Given the description of an element on the screen output the (x, y) to click on. 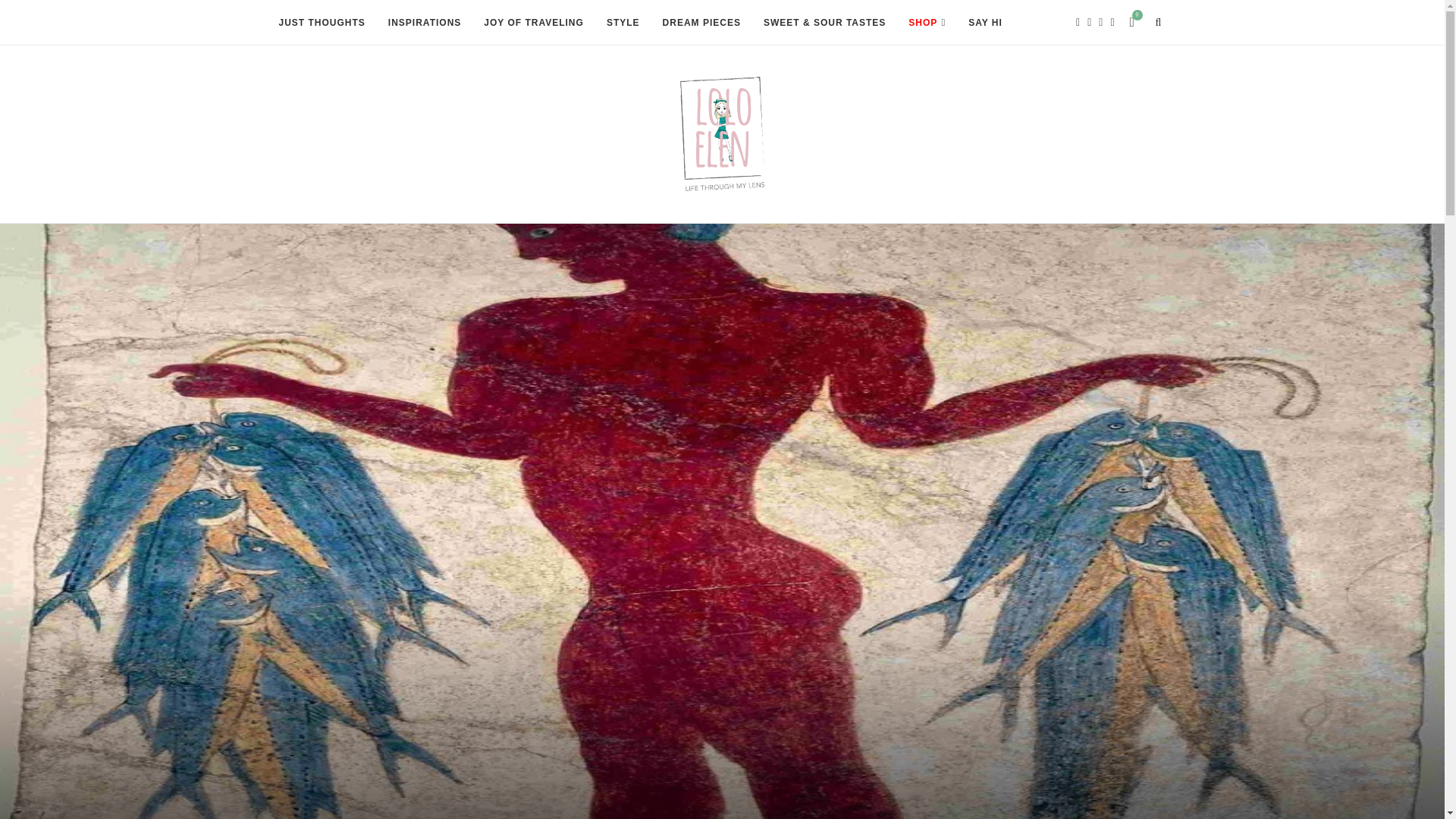
INSPIRATIONS (424, 22)
DREAM PIECES (701, 22)
JOY OF TRAVELING (533, 22)
JUST THOUGHTS (322, 22)
